Given the description of an element on the screen output the (x, y) to click on. 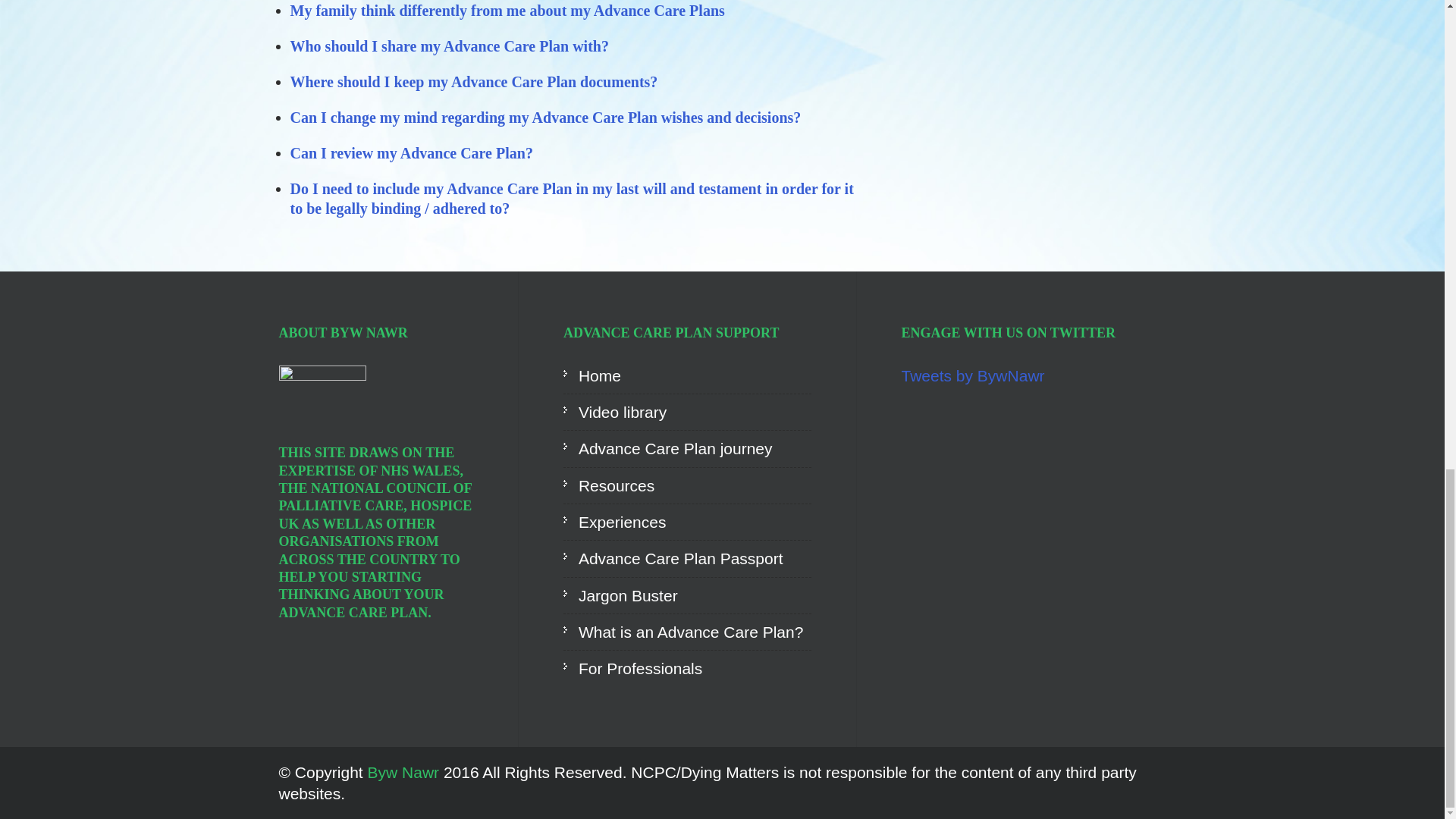
Who should I share my Advance Care Plan with? (448, 45)
Can I review my Advance Care Plan?  (412, 152)
Where should I keep my Advance Care Plan documents? (473, 81)
